Given the description of an element on the screen output the (x, y) to click on. 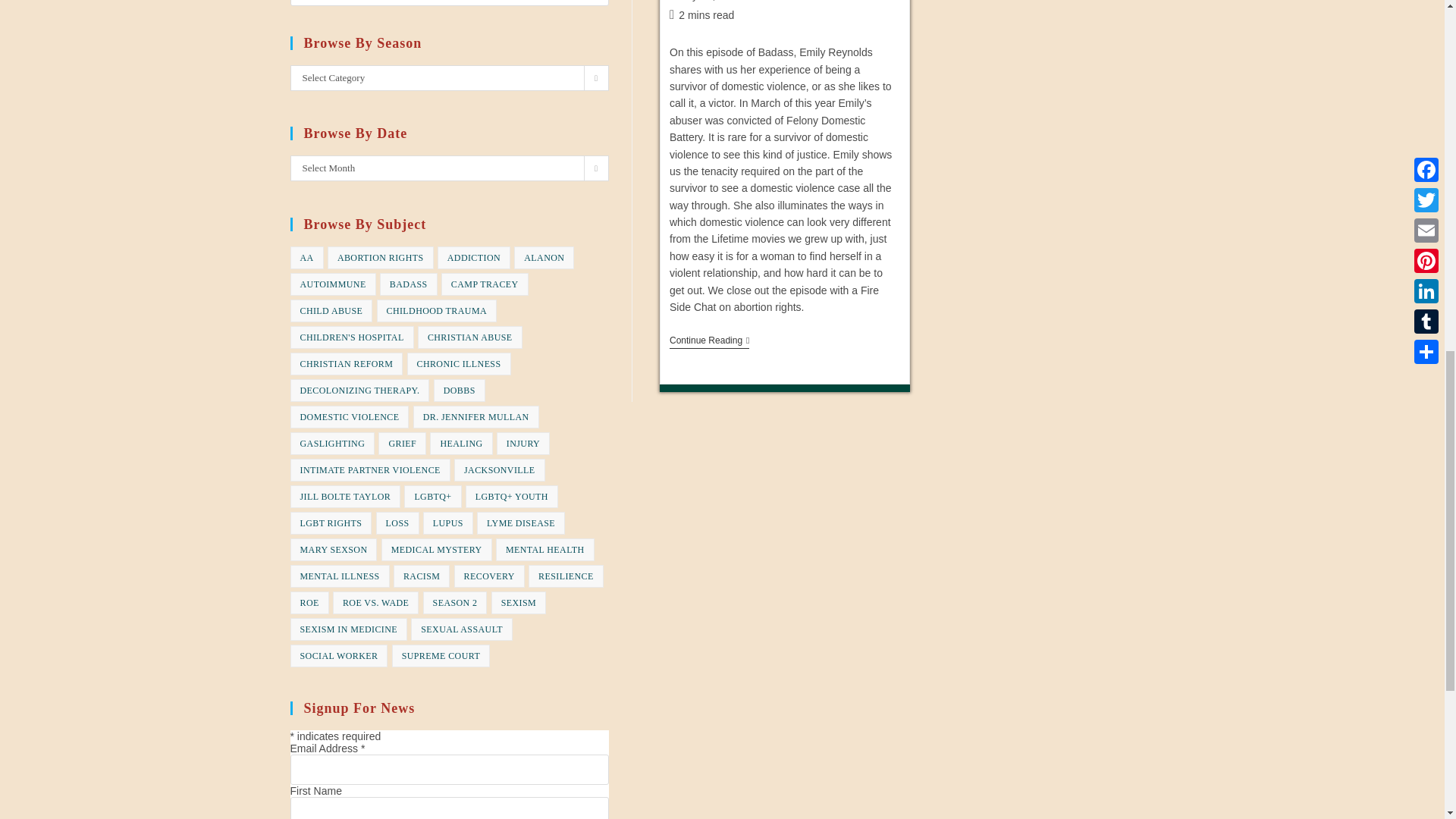
Season 1 (834, 0)
Podcast (782, 0)
